Given the description of an element on the screen output the (x, y) to click on. 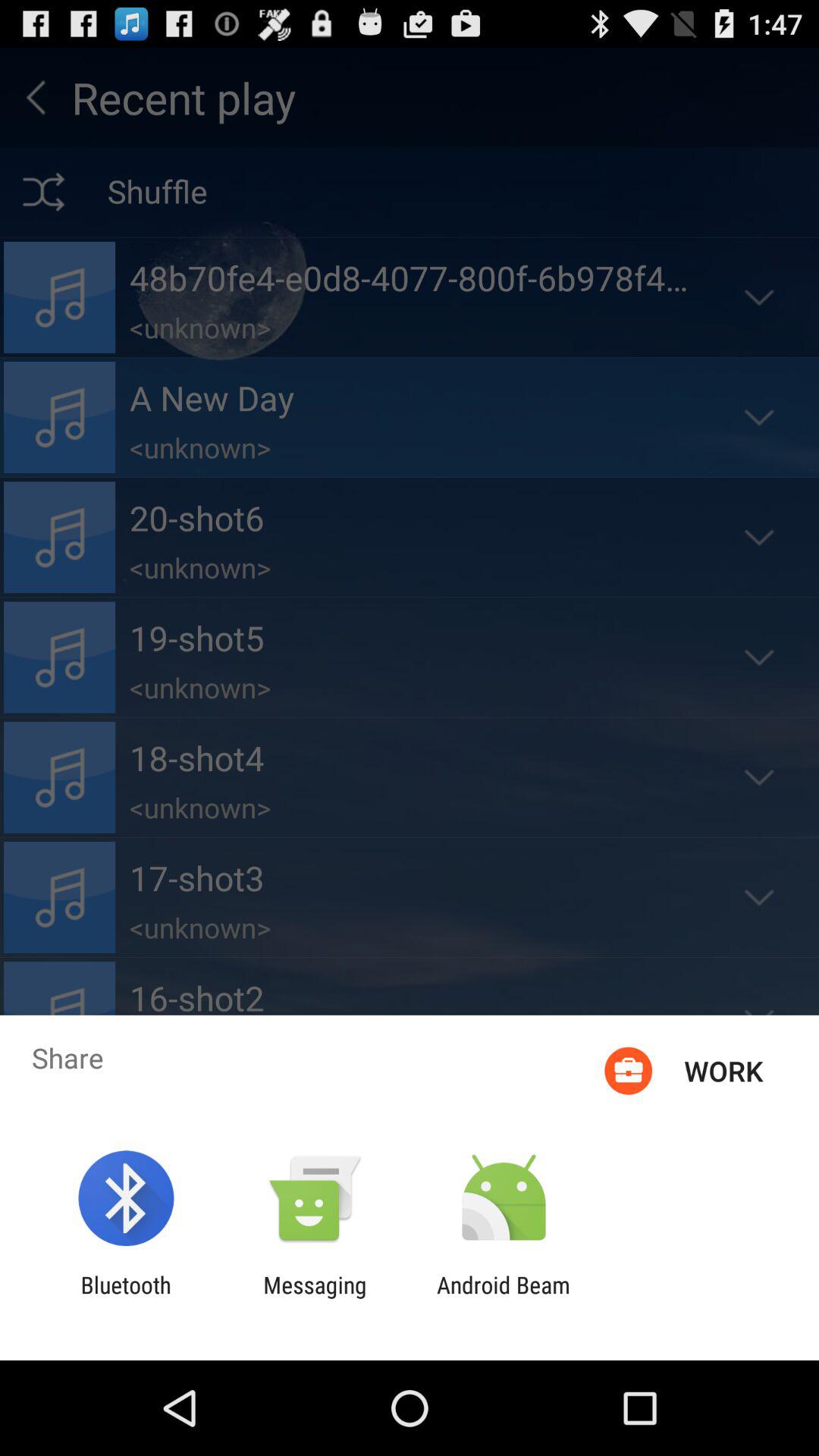
choose item next to the android beam app (314, 1298)
